Given the description of an element on the screen output the (x, y) to click on. 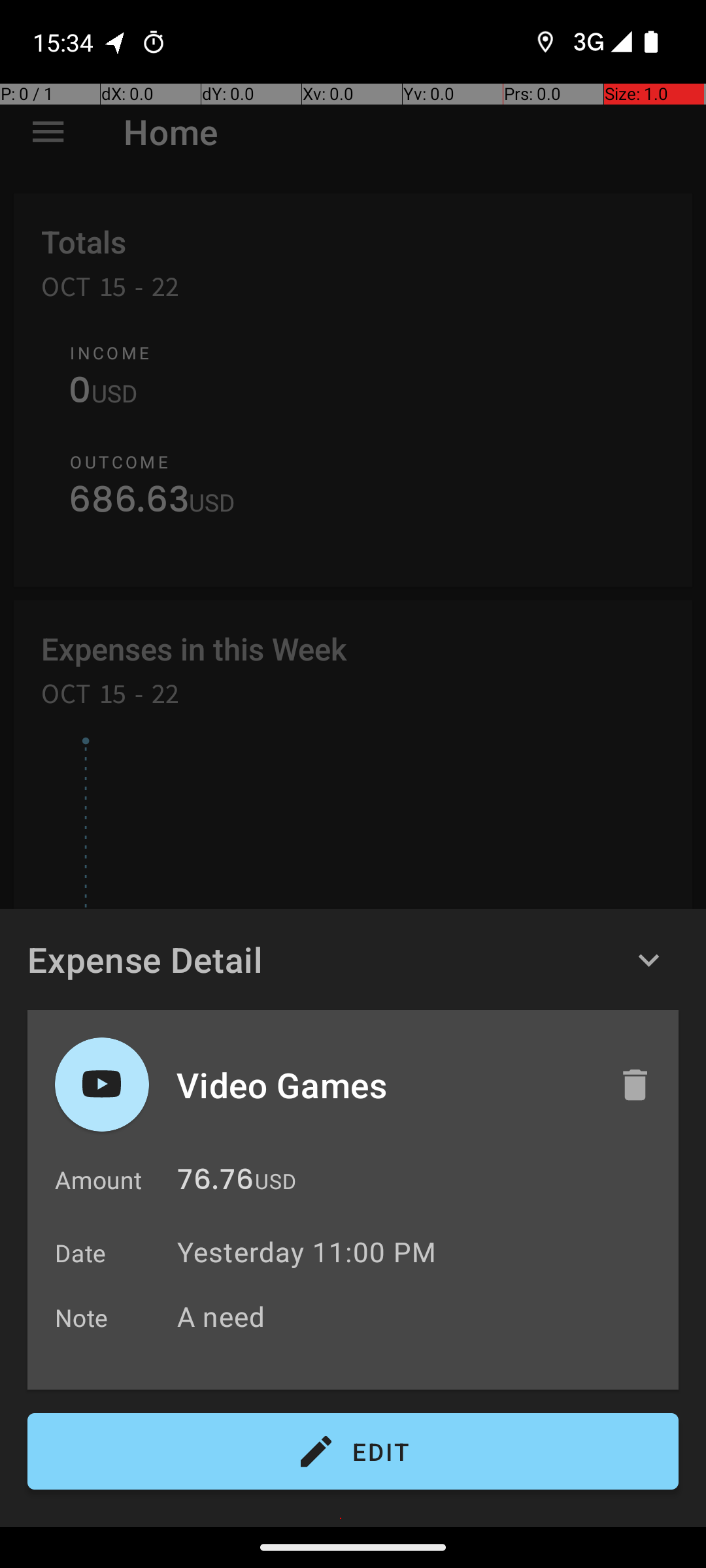
76.76 Element type: android.widget.TextView (215, 1182)
Yesterday 11:00 PM Element type: android.widget.TextView (306, 1251)
